Given the description of an element on the screen output the (x, y) to click on. 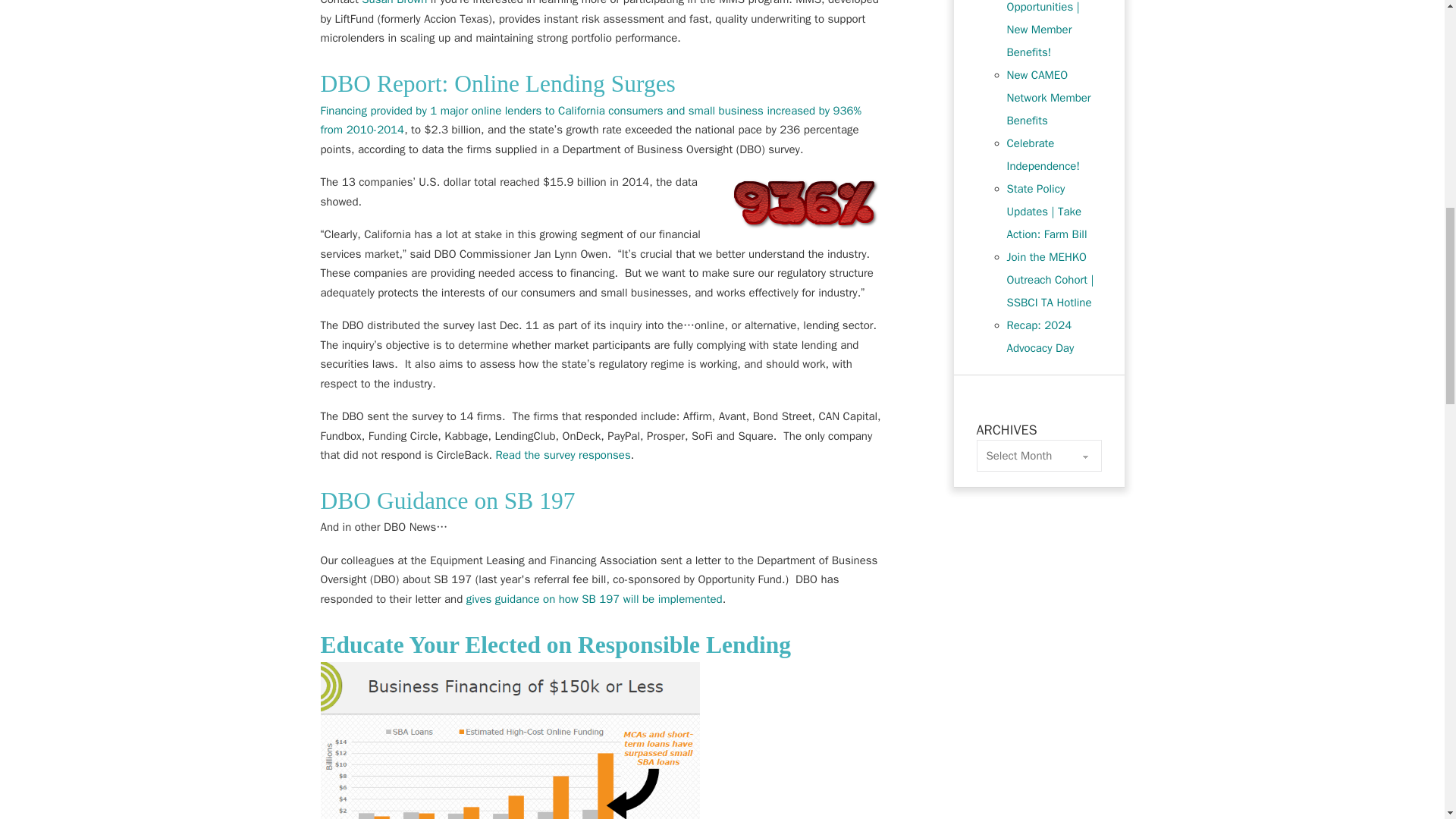
936pic (805, 203)
Celebrate Independence! (1043, 154)
New CAMEO Network Member Benefits (1048, 97)
MCAvSBA (509, 740)
